Given the description of an element on the screen output the (x, y) to click on. 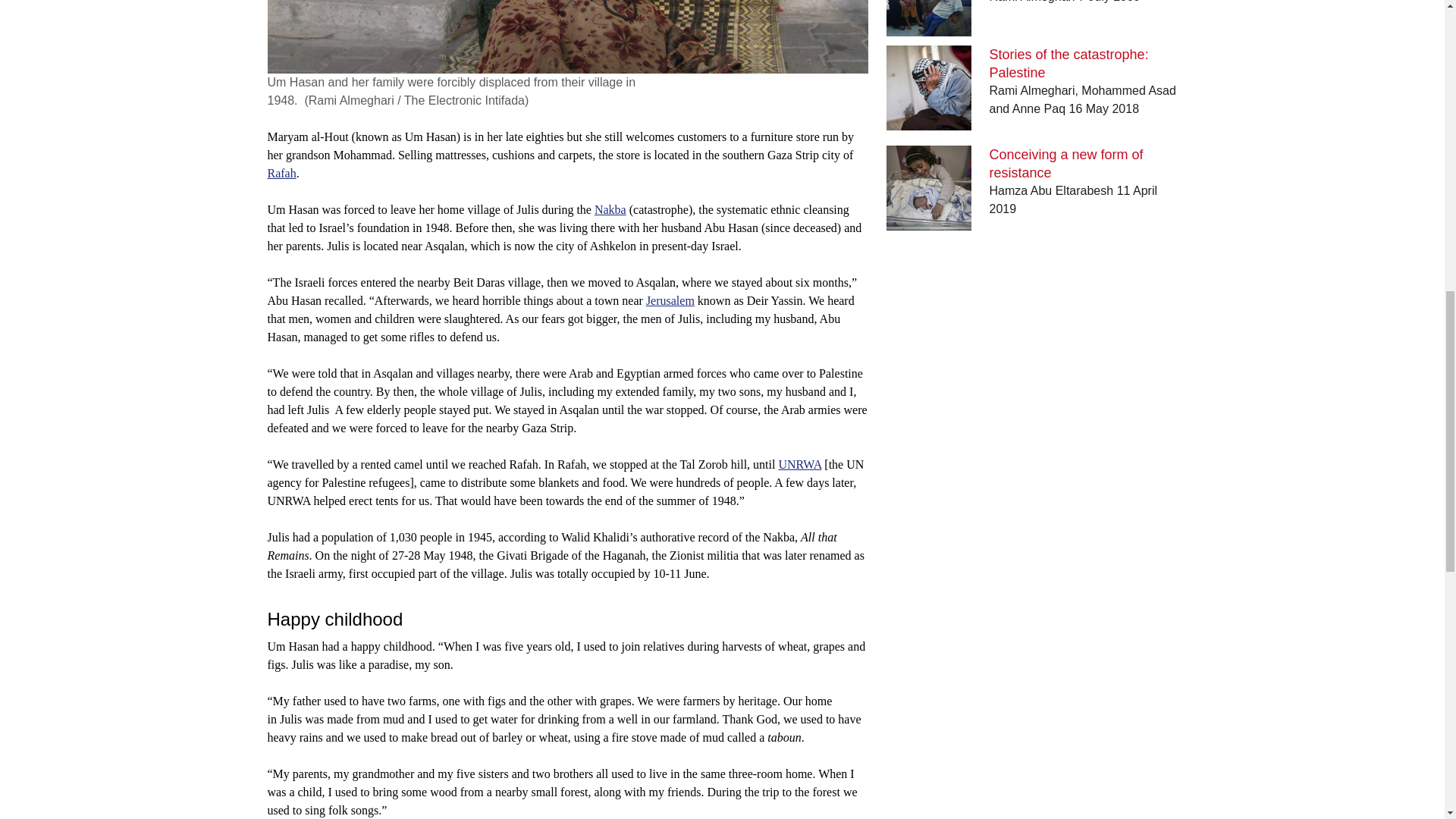
Conceiving a new form of resistance (1066, 163)
UNRWA (799, 463)
Rafah (280, 173)
Stories of the catastrophe: Palestine (1069, 63)
Jerusalem (670, 300)
Nakba (610, 209)
